Given the description of an element on the screen output the (x, y) to click on. 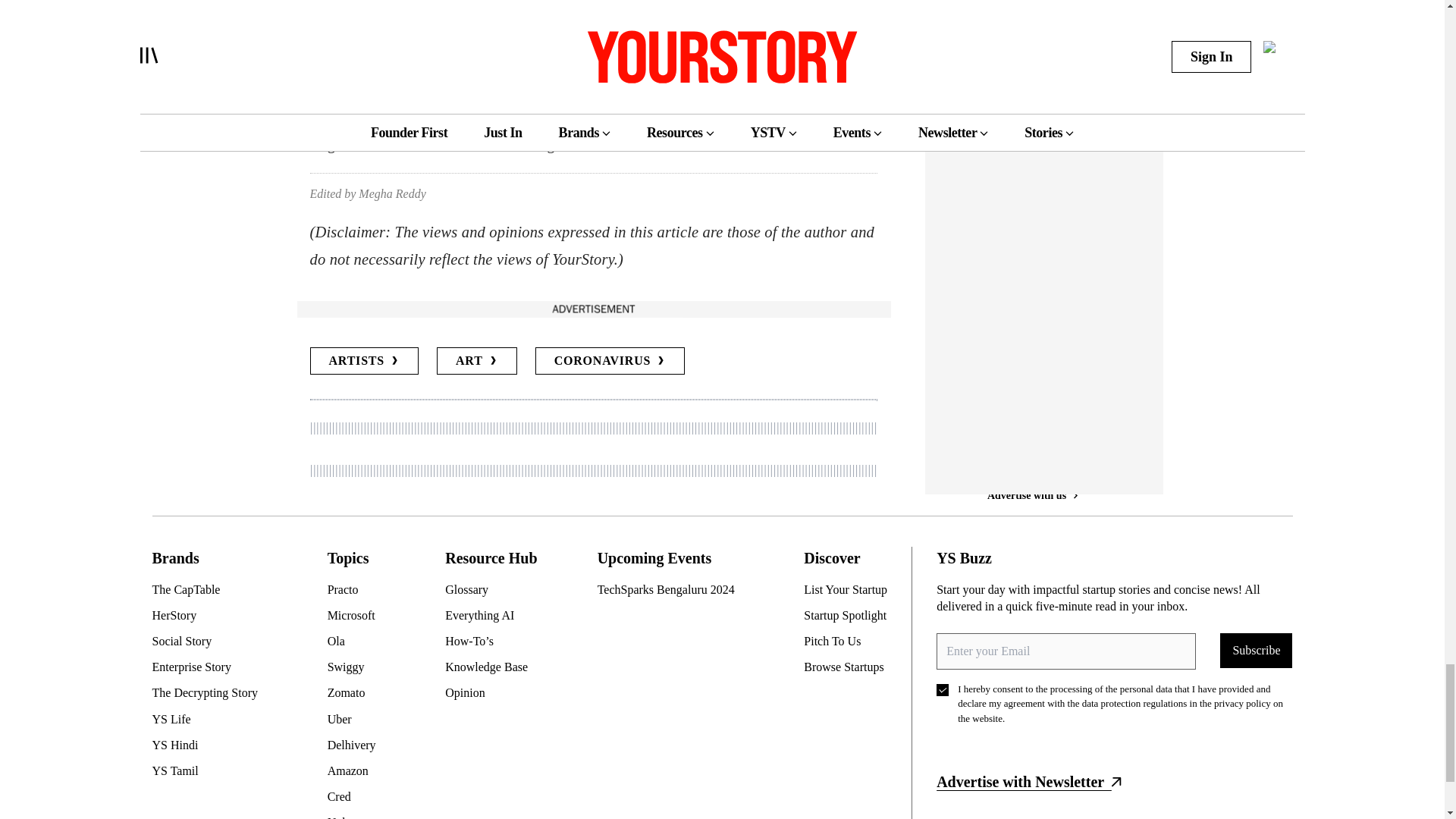
Social Story (210, 641)
ARTISTS (363, 360)
CORONAVIRUS (610, 360)
The CapTable (210, 589)
ART (476, 360)
HerStory (210, 615)
Advertise with us (592, 308)
